Given the description of an element on the screen output the (x, y) to click on. 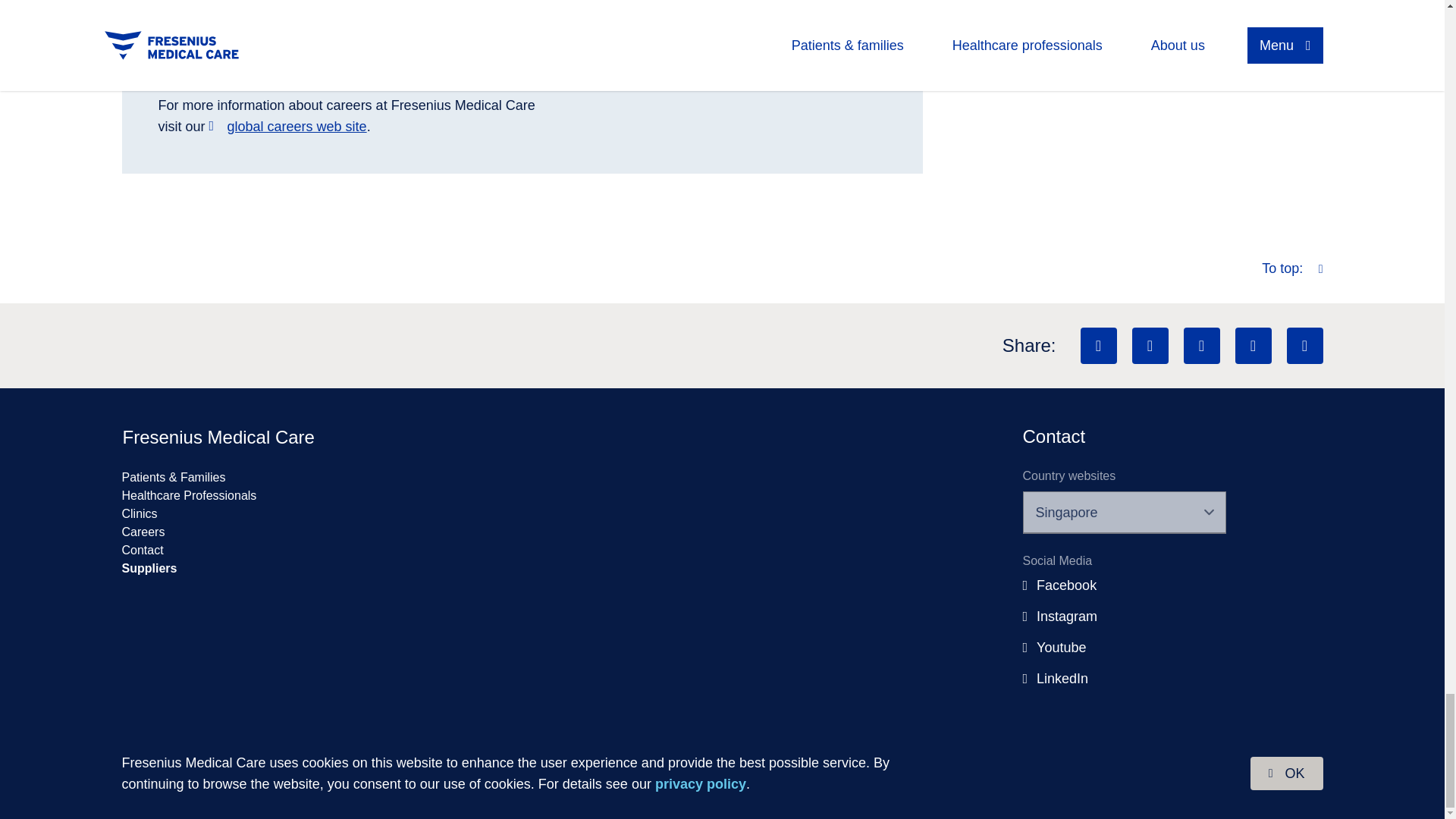
Explore on Youtube (1201, 345)
Terms of use (1228, 783)
Contact (141, 549)
Healthcare Professionals (188, 495)
Instagram (1064, 616)
Terms of use (1228, 783)
To top: (1292, 268)
LinkedIn (1059, 678)
Privacy policy (1111, 783)
Careers (142, 531)
